Given the description of an element on the screen output the (x, y) to click on. 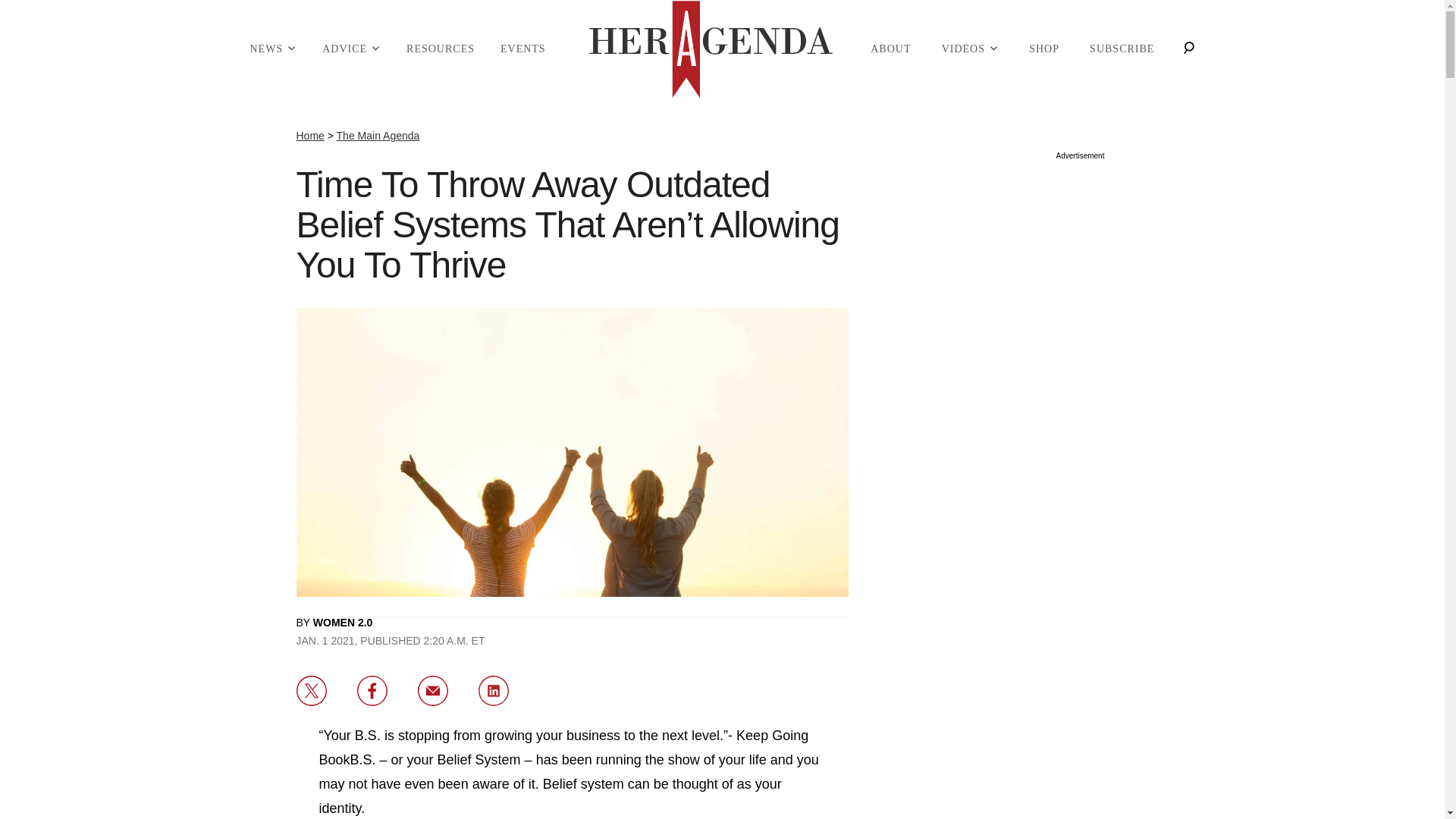
SUBSCRIBE (1122, 49)
Search Articles (1188, 49)
SHOP (1043, 49)
RESOURCES (440, 49)
EVENTS (523, 49)
ABOUT (890, 49)
